Given the description of an element on the screen output the (x, y) to click on. 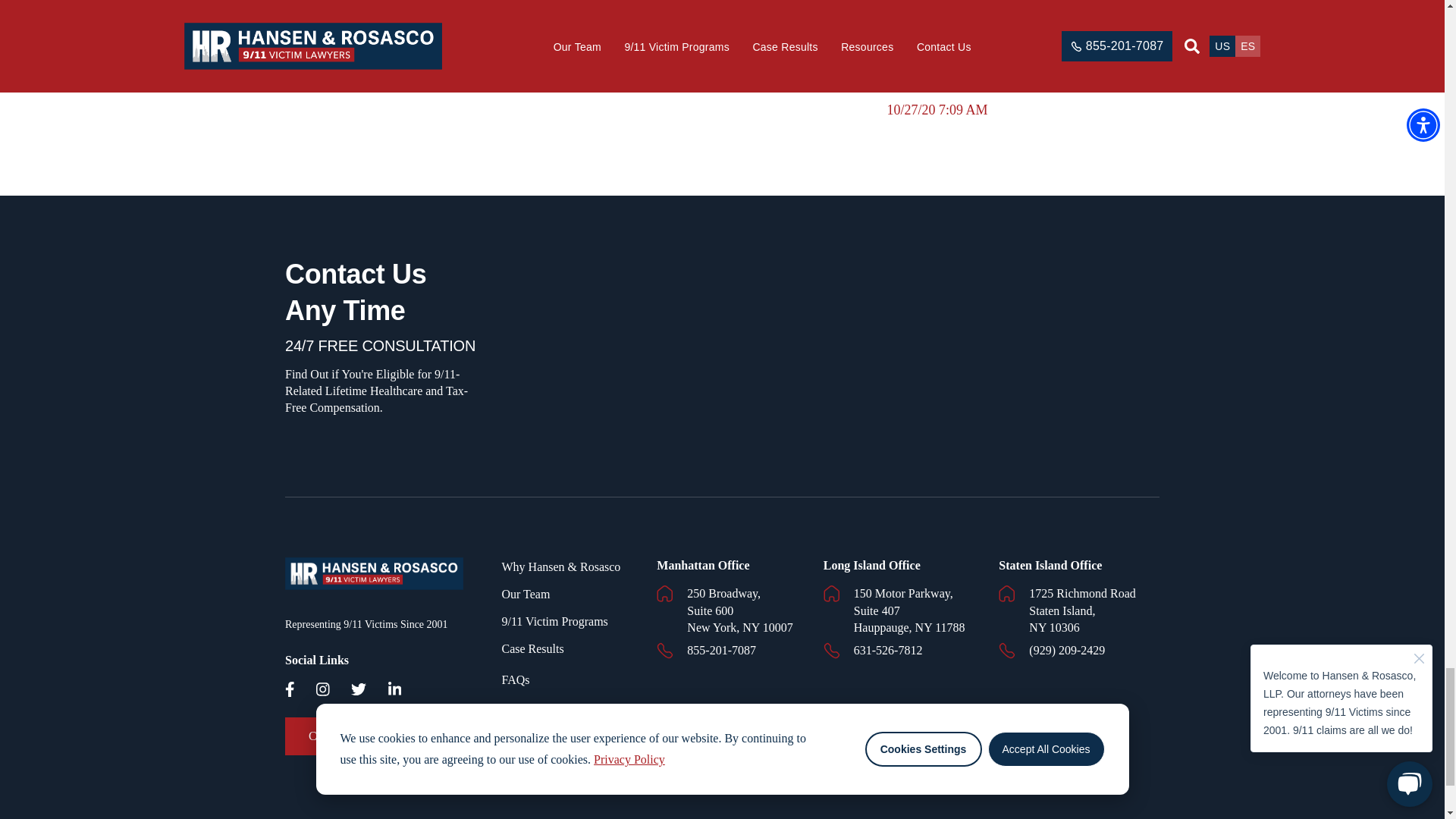
Contact Us (336, 736)
